Given the description of an element on the screen output the (x, y) to click on. 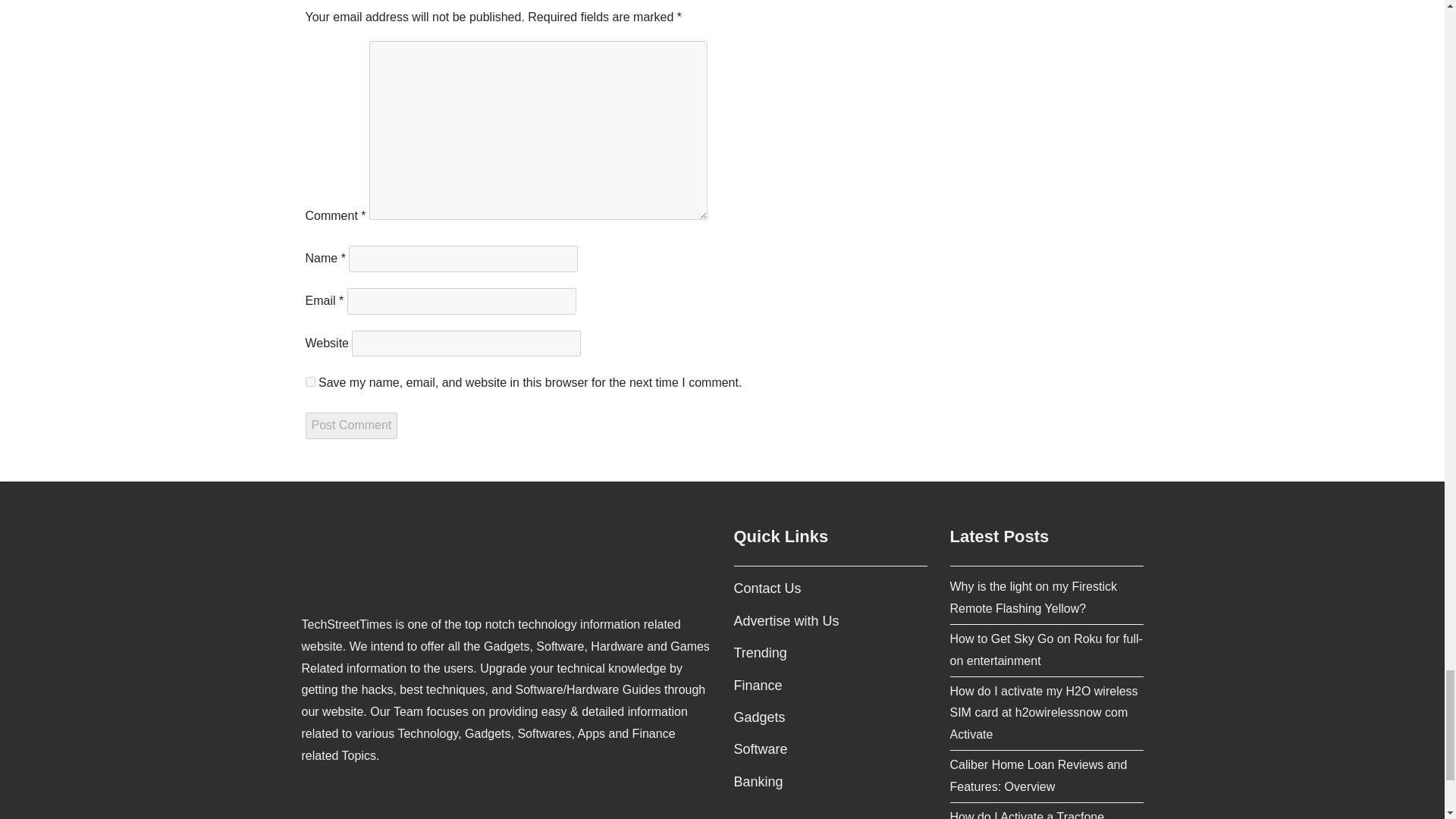
yes (309, 381)
Post Comment (350, 425)
Contact Us (767, 588)
Post Comment (350, 425)
